Given the description of an element on the screen output the (x, y) to click on. 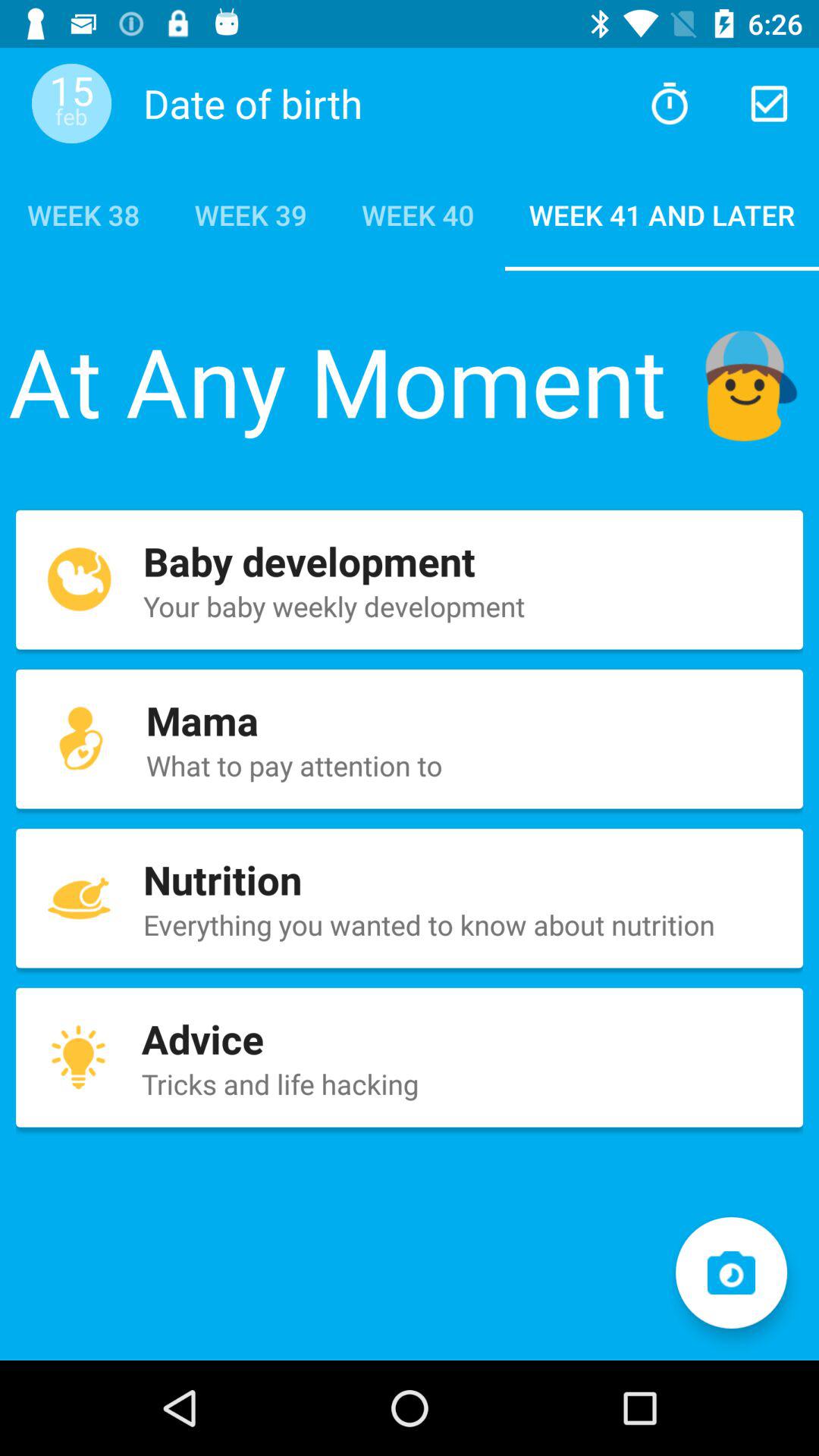
suggested web page based on prior searches (669, 103)
